Given the description of an element on the screen output the (x, y) to click on. 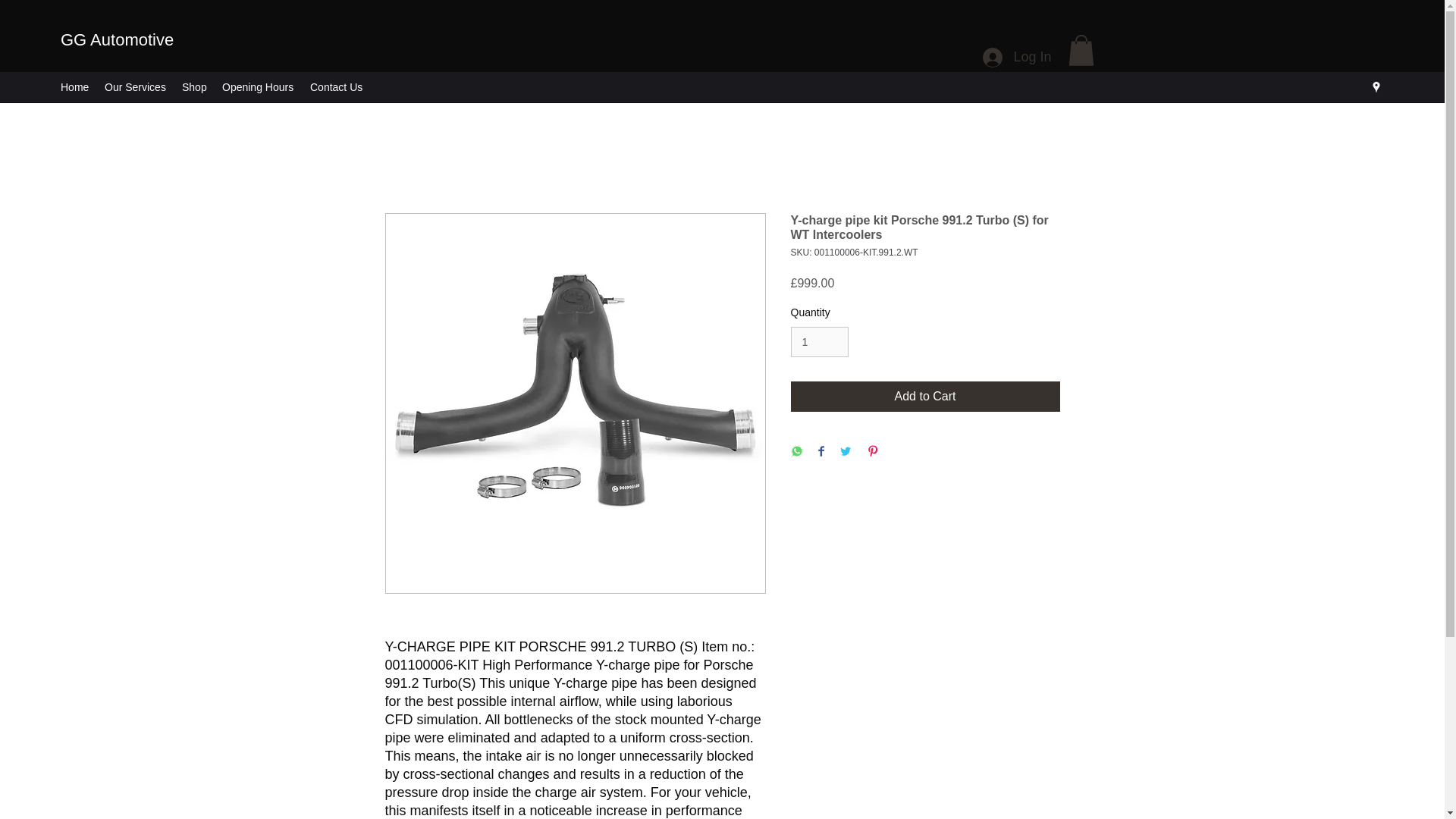
Shop (194, 87)
Our Services (135, 87)
Log In (1016, 57)
Opening Hours (258, 87)
Home (74, 87)
Contact Us (336, 87)
GG Automotive (117, 39)
Add to Cart (924, 396)
1 (818, 341)
